Given the description of an element on the screen output the (x, y) to click on. 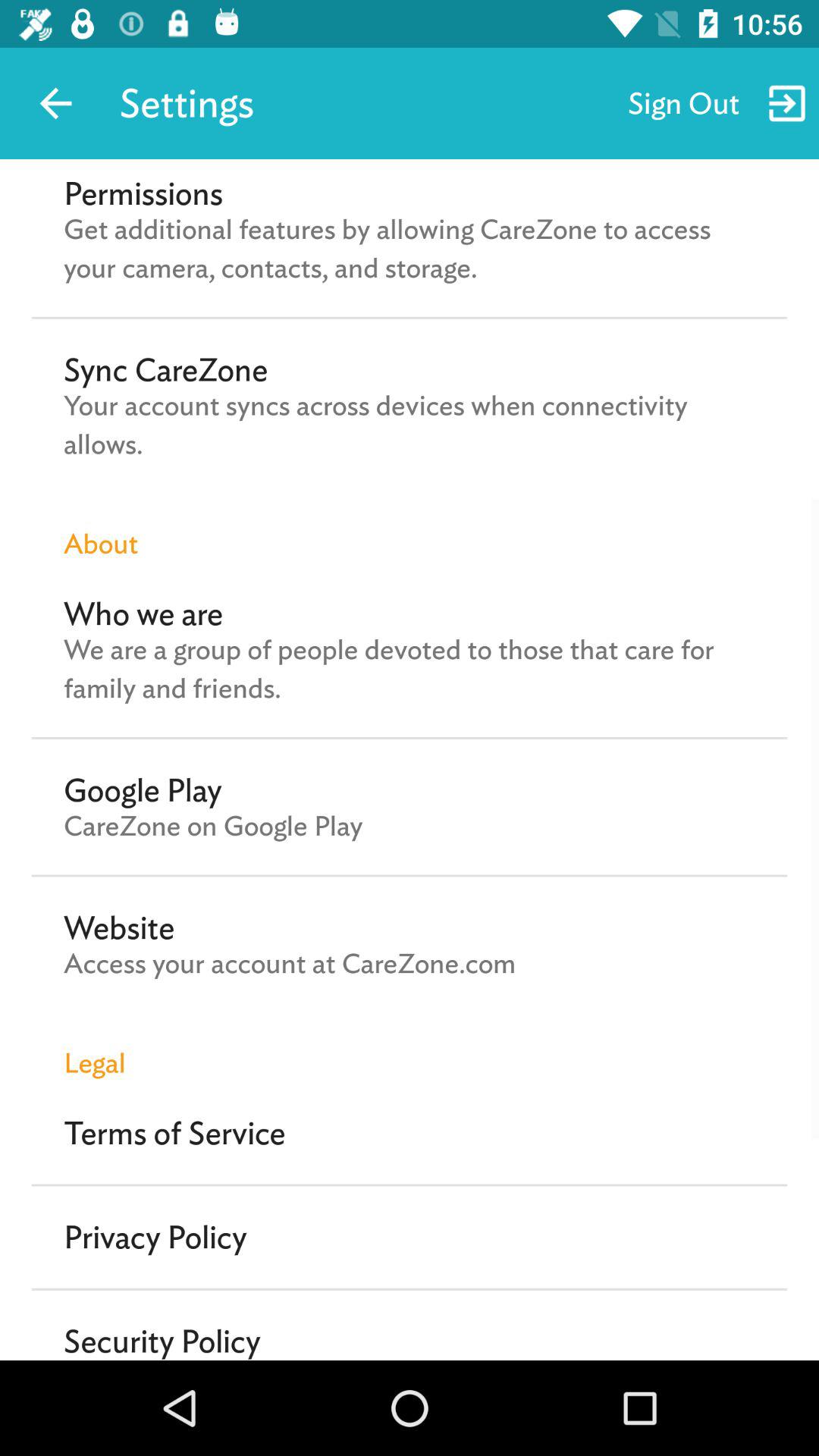
turn off the item above the security policy item (154, 1237)
